Given the description of an element on the screen output the (x, y) to click on. 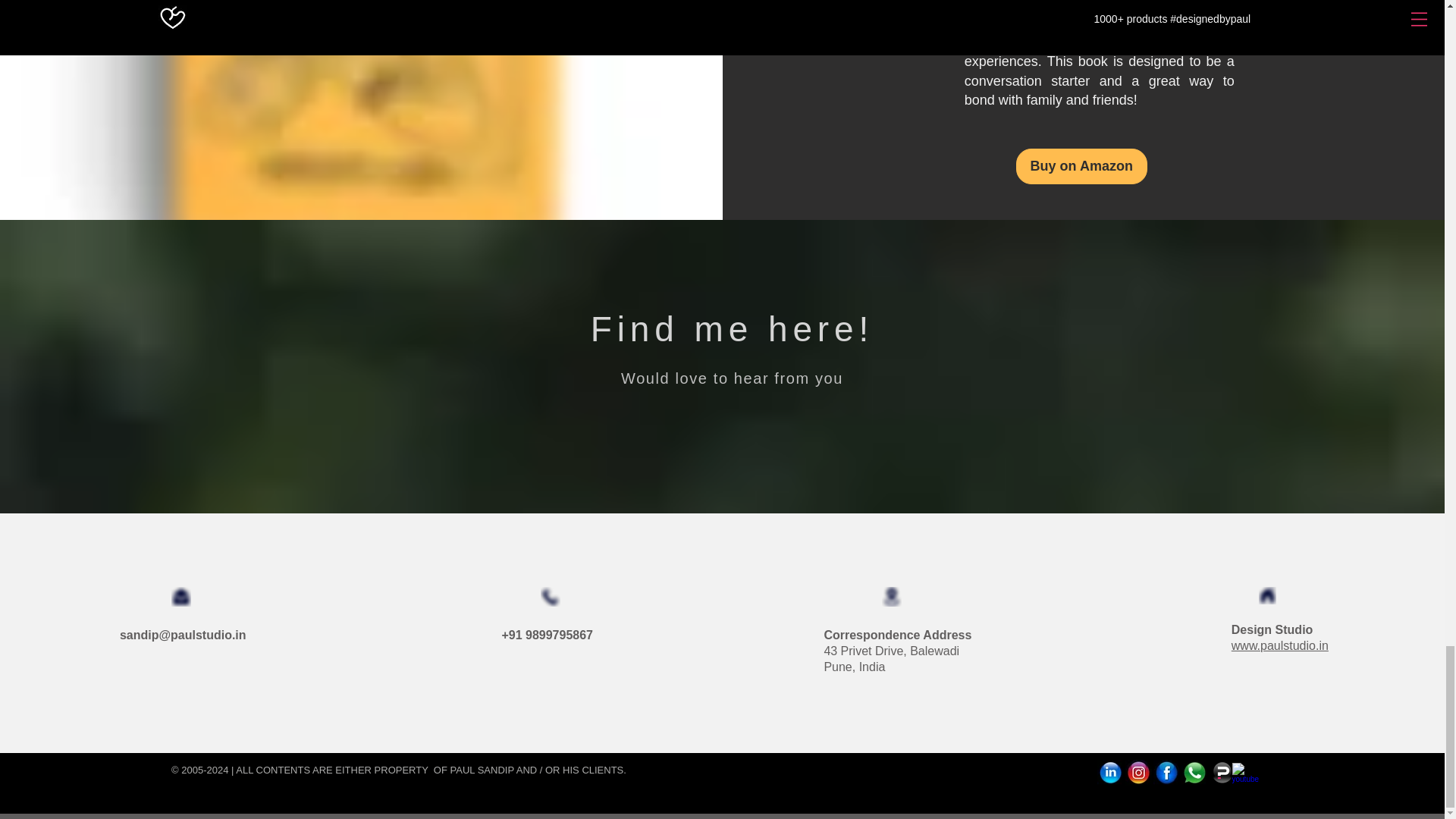
www.paulstudio.in (1279, 645)
Buy on Amazon (1081, 166)
